Given the description of an element on the screen output the (x, y) to click on. 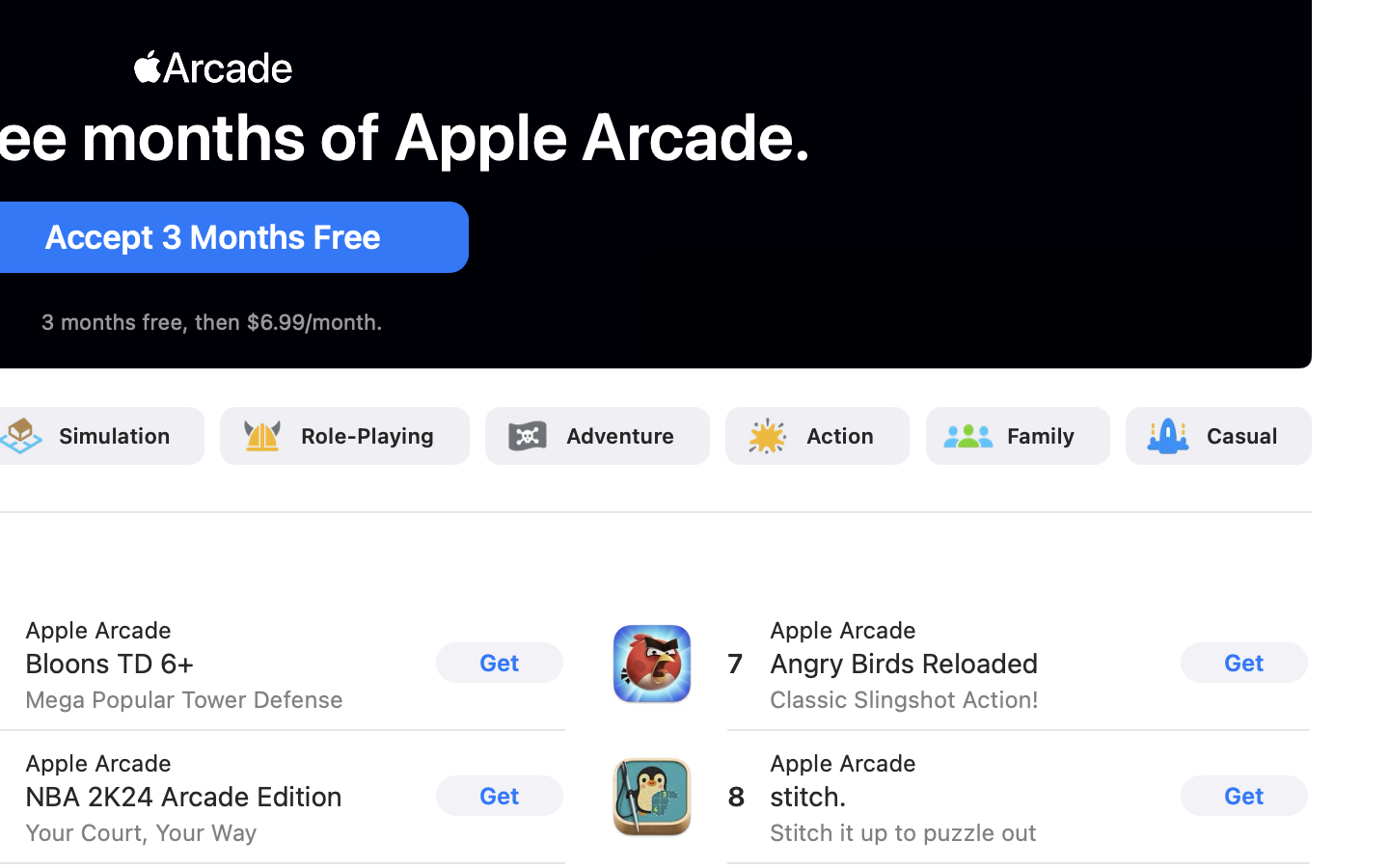
Adventure Element type: AXStaticText (620, 435)
Family Element type: AXStaticText (1041, 435)
